Given the description of an element on the screen output the (x, y) to click on. 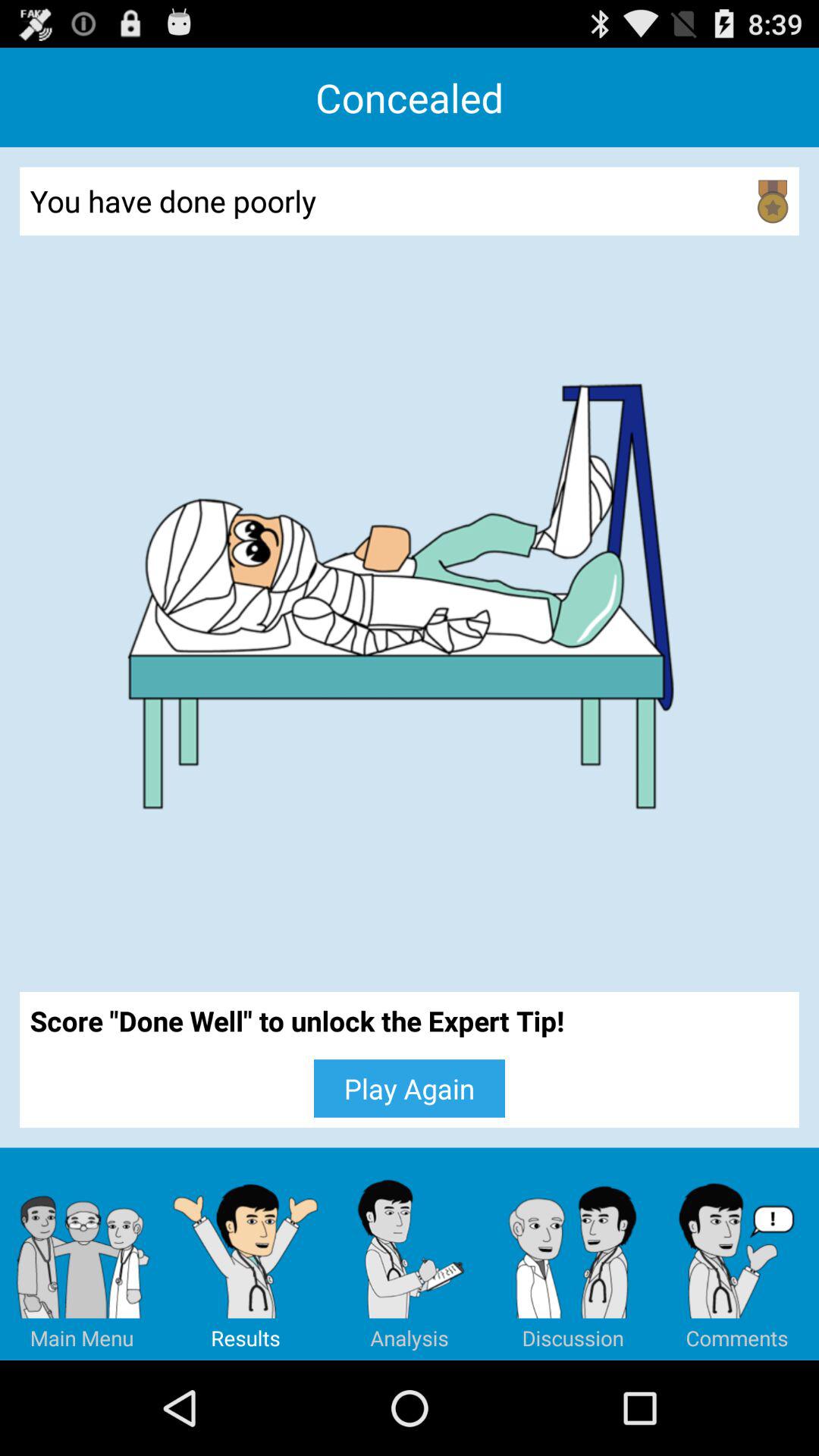
scroll to the play again (409, 1088)
